Given the description of an element on the screen output the (x, y) to click on. 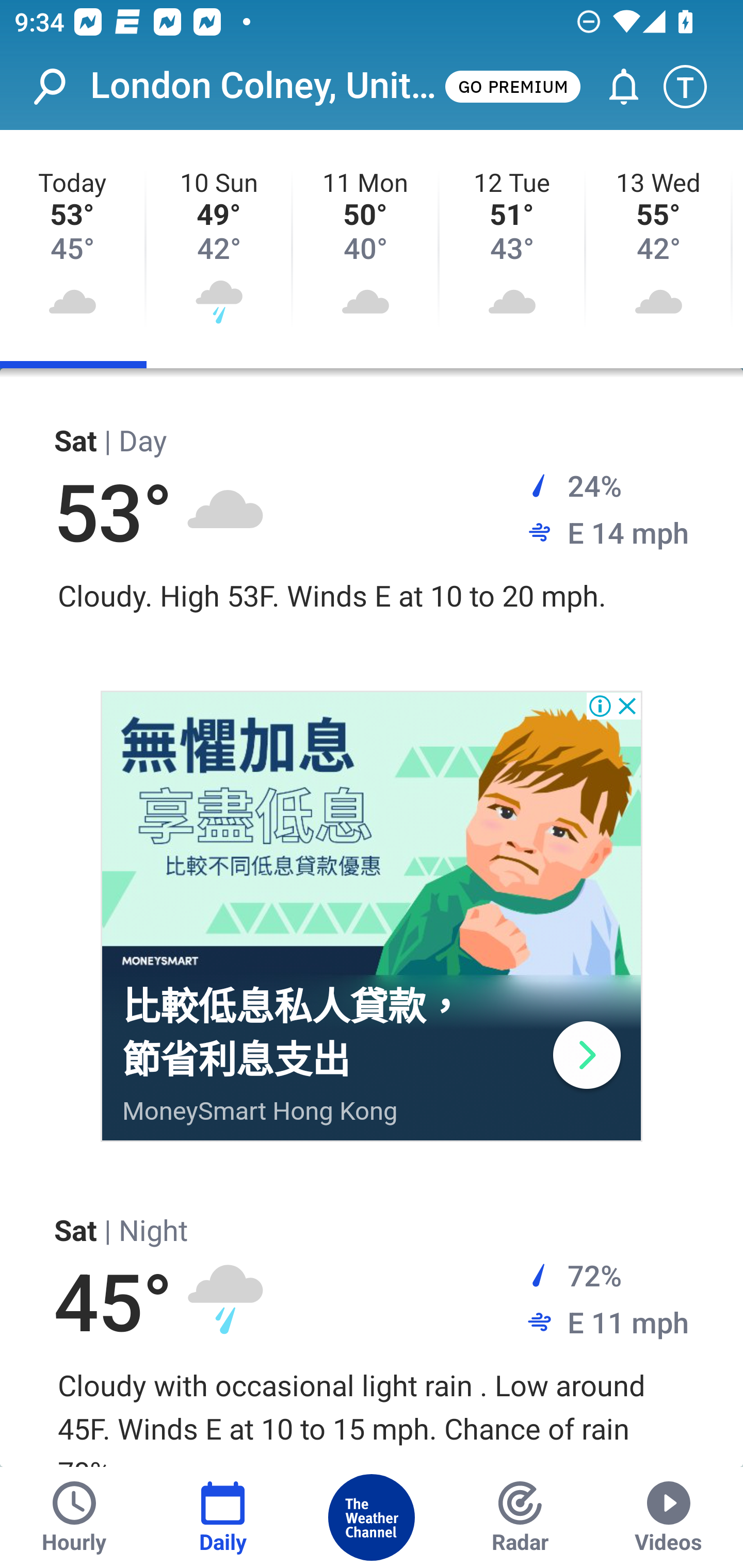
Search (59, 86)
Go to Alerts and Notifications (614, 86)
Setting icon T (694, 86)
London Colney, United Kingdom (265, 85)
GO PREMIUM (512, 85)
比較低息私人貸款， 節省利息支出 比較低息私人貸款， 節省利息支出 (293, 1033)
MoneySmart Hong Kong (260, 1110)
Hourly Tab Hourly (74, 1517)
Home Tab (371, 1517)
Radar Tab Radar (519, 1517)
Videos Tab Videos (668, 1517)
